Given the description of an element on the screen output the (x, y) to click on. 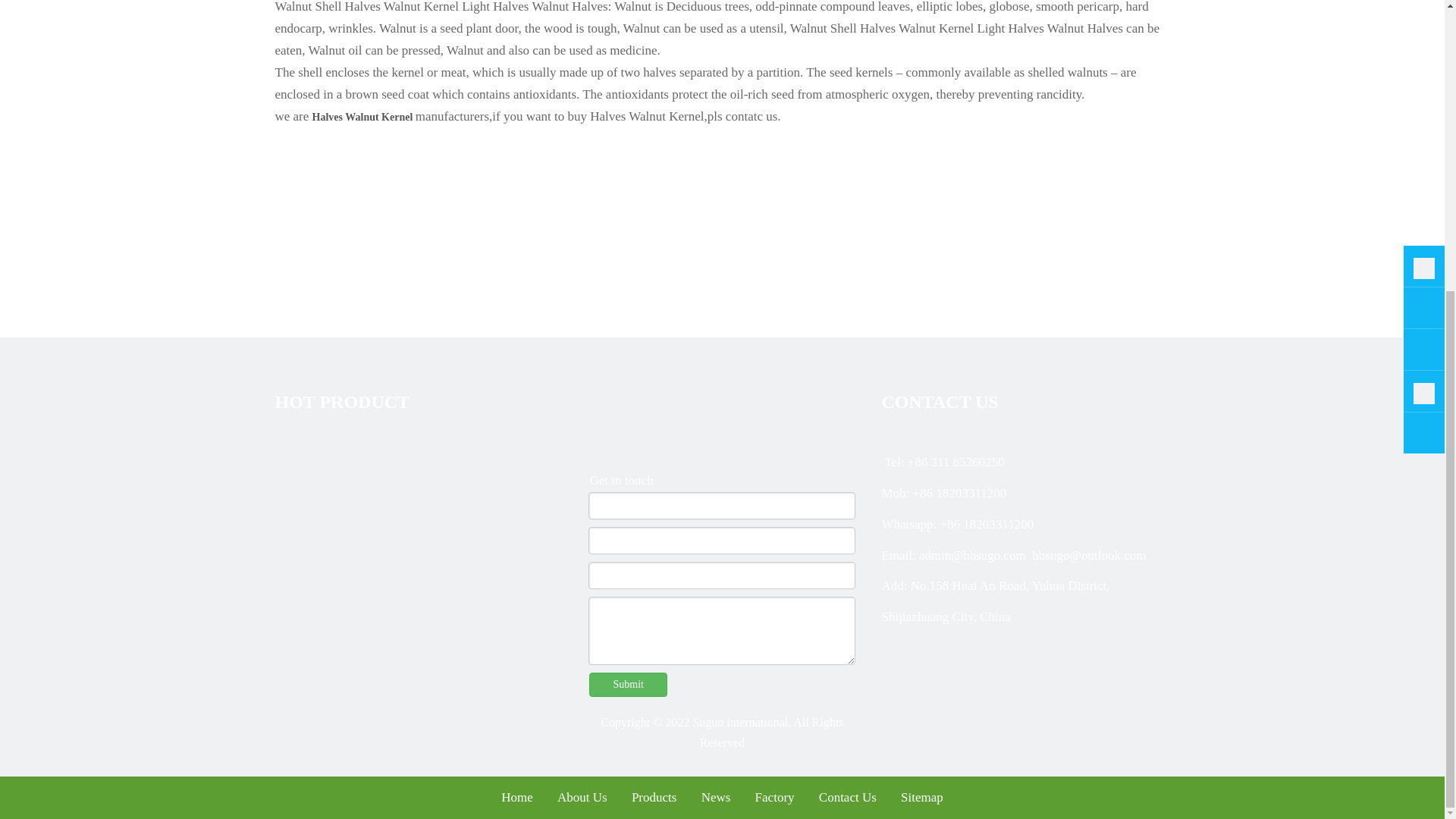
News (715, 797)
Home (516, 797)
Factory (774, 797)
Halves Walnut Kernel (363, 116)
Pinterest (967, 642)
Linkedin (916, 642)
About Us (582, 797)
Facebook (889, 642)
Products (654, 797)
Halves Walnut Kernel (363, 116)
Twitter (940, 642)
